Given the description of an element on the screen output the (x, y) to click on. 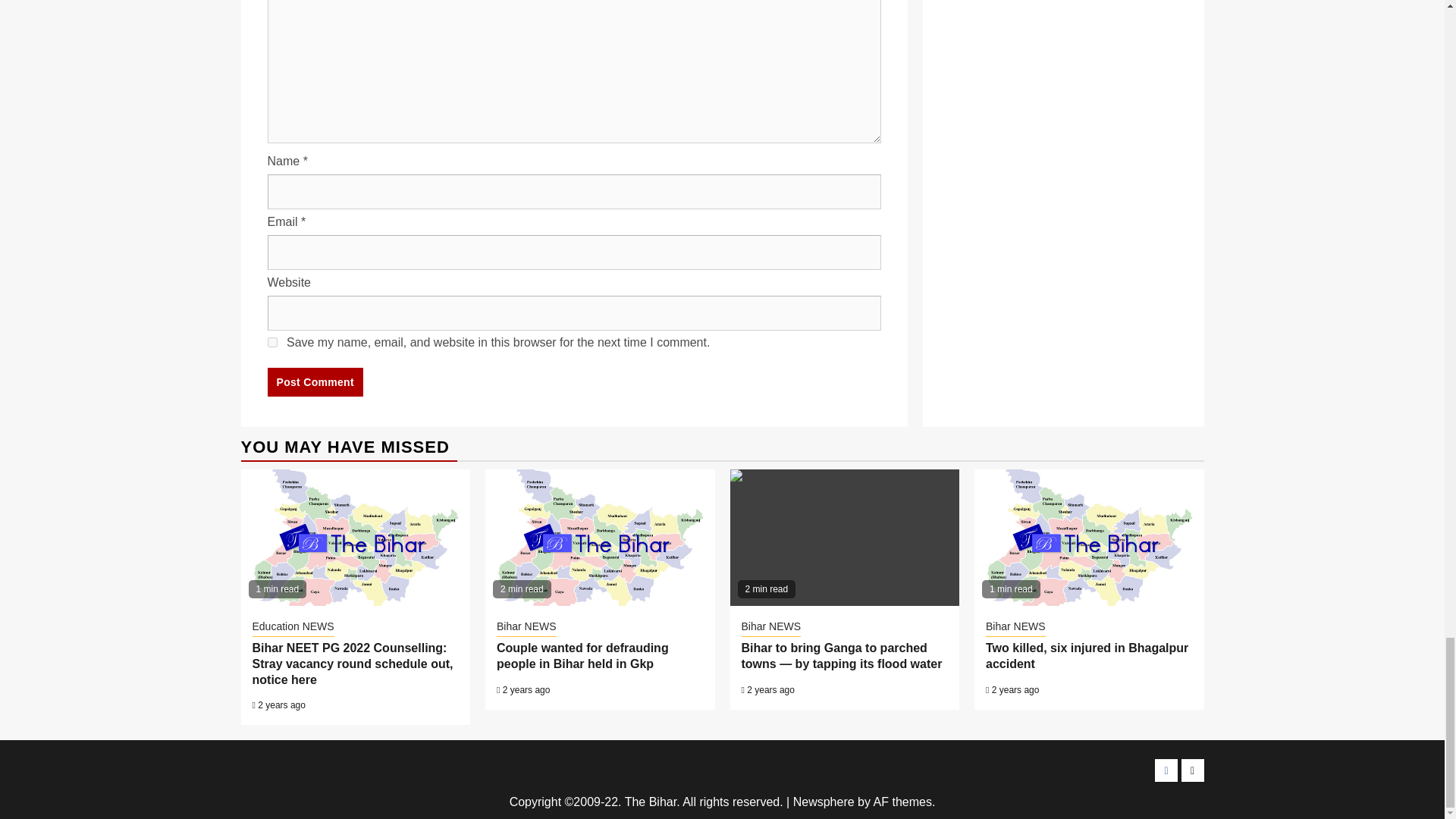
Couple wanted for defrauding people in Bihar held in Gkp (599, 537)
yes (271, 342)
Two killed, six injured in Bhagalpur accident (1089, 537)
Post Comment (314, 381)
